Given the description of an element on the screen output the (x, y) to click on. 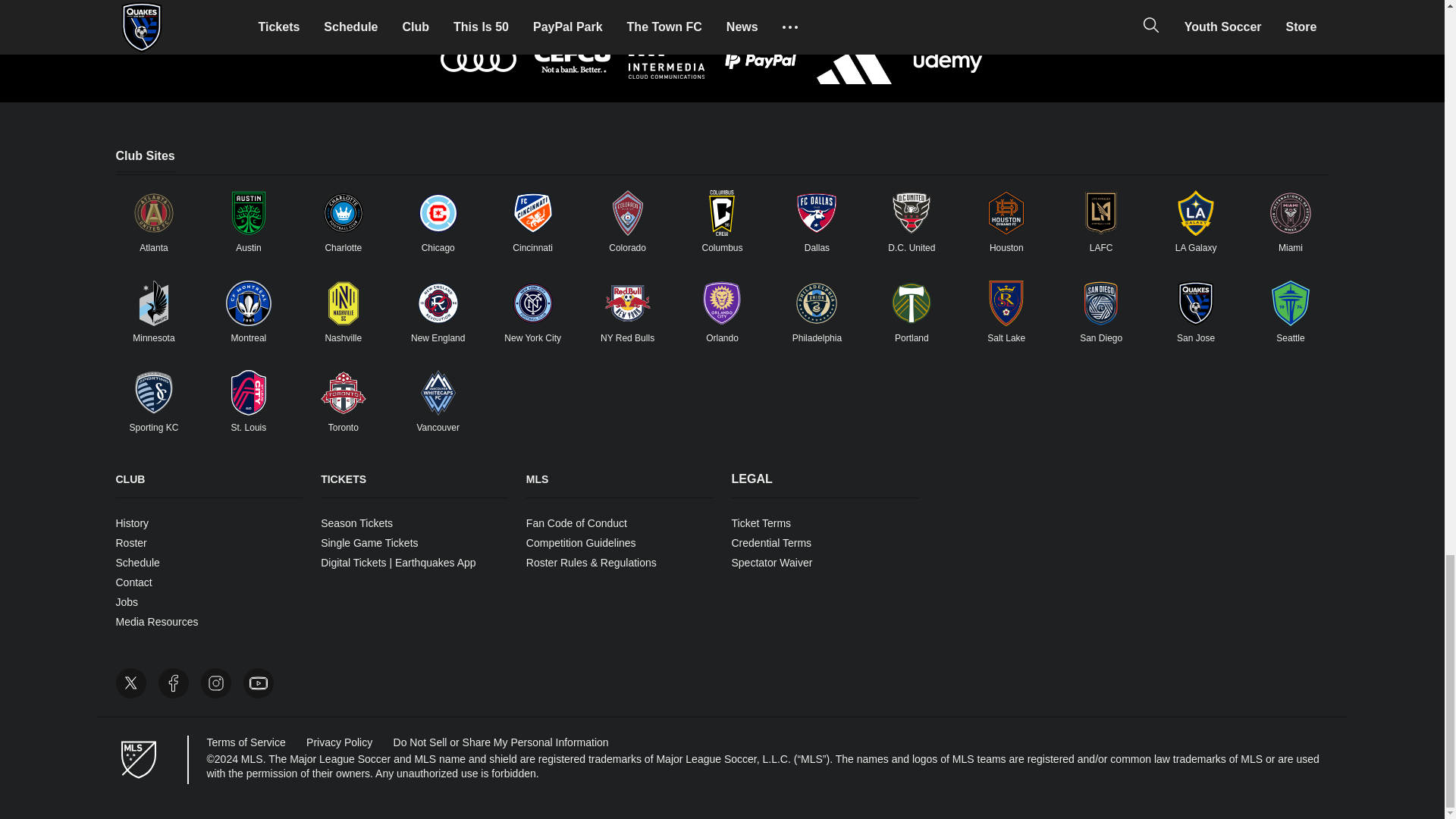
Link to Dallas (816, 212)
Link to Charlotte (343, 212)
Link to LAFC (1101, 212)
Link to Montreal (247, 302)
Link to Houston (1006, 212)
Link to Austin (247, 212)
Link to Atlanta (153, 212)
Link to Nashville (343, 302)
Link to LA Galaxy (1195, 212)
Link to Columbus (721, 212)
